Given the description of an element on the screen output the (x, y) to click on. 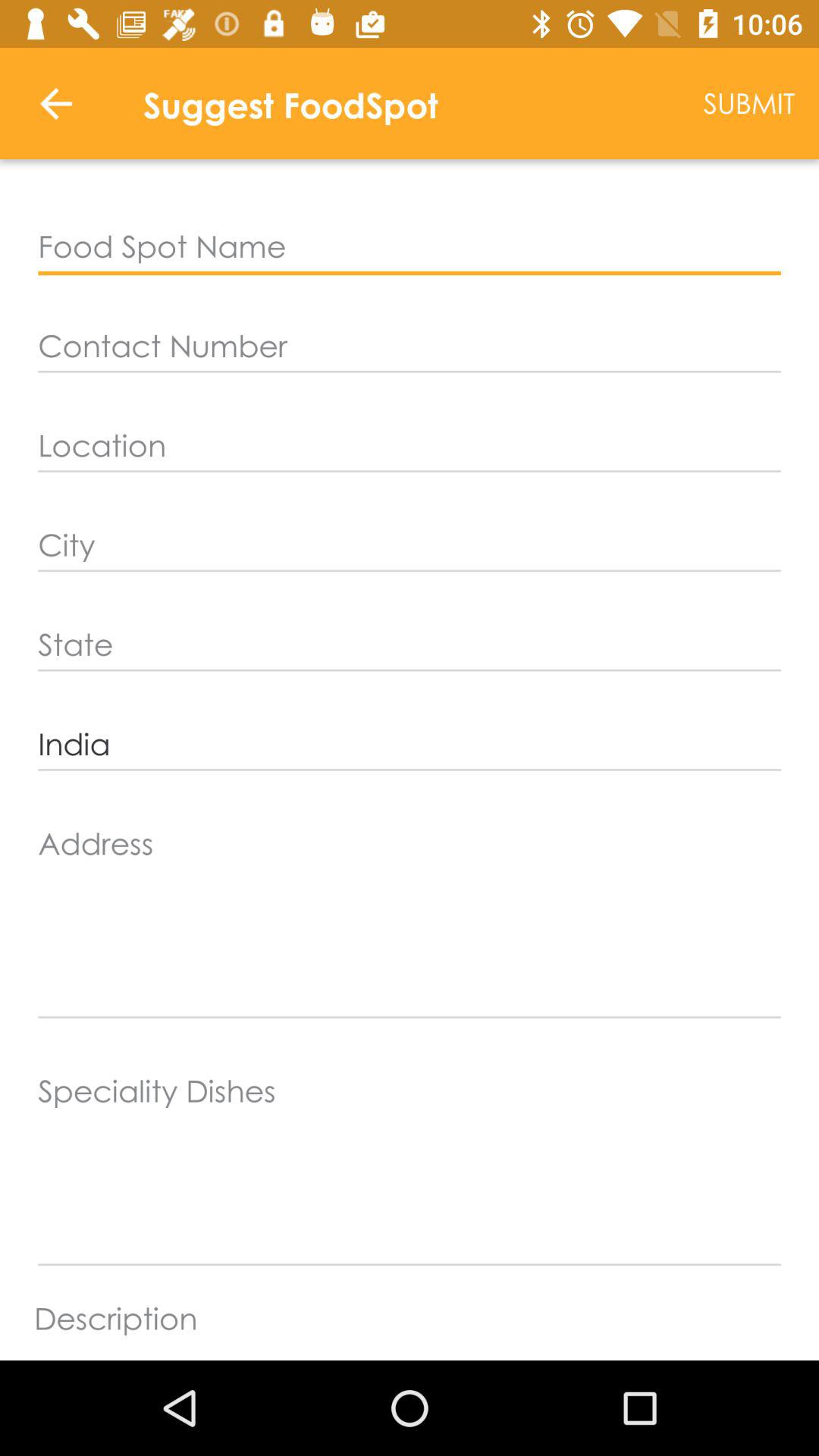
turn off the item at the top right corner (749, 103)
